Given the description of an element on the screen output the (x, y) to click on. 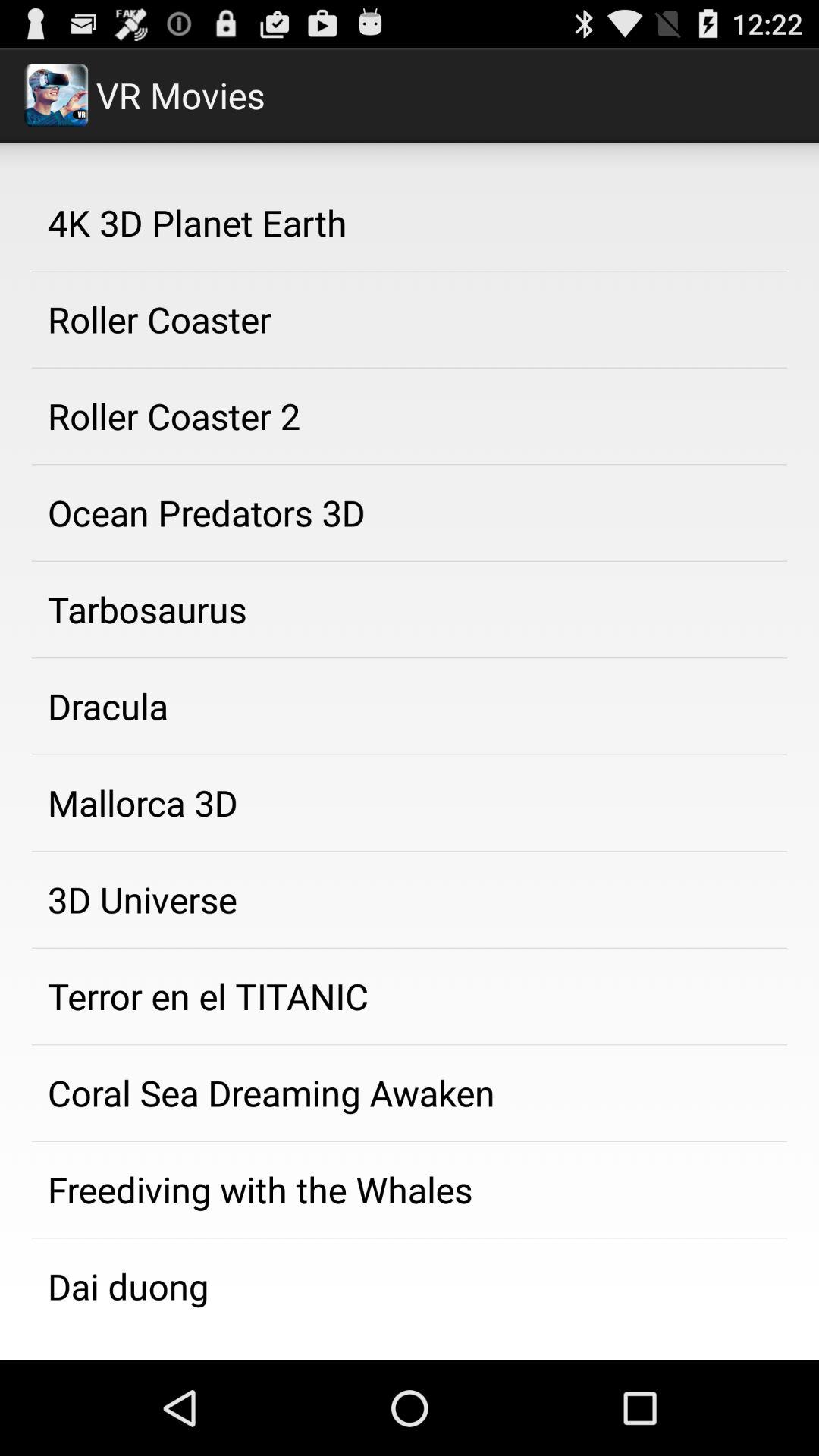
turn off the item above dracula app (409, 609)
